Given the description of an element on the screen output the (x, y) to click on. 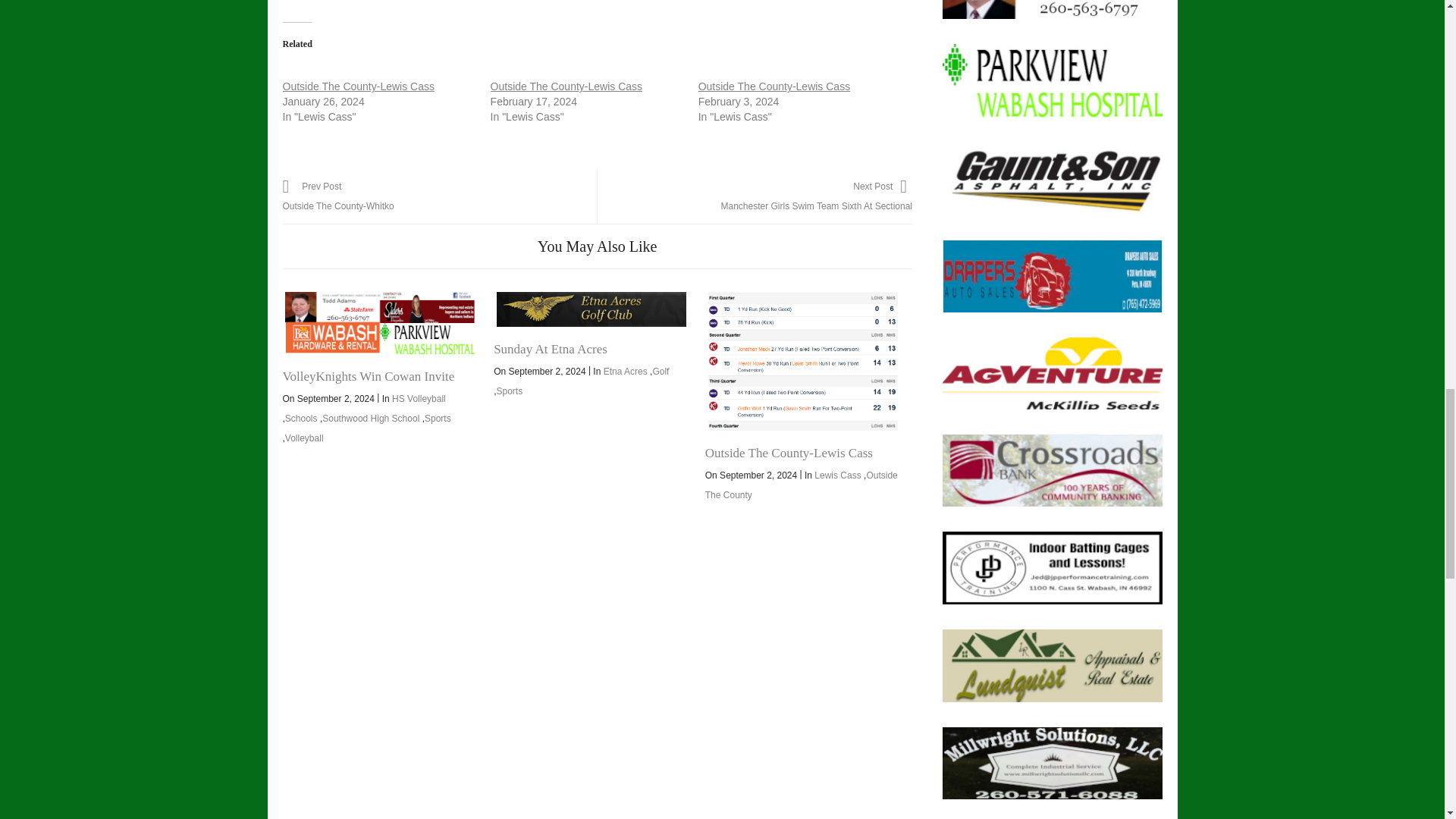
VolleyKnights Win Cowan Invite (379, 322)
Sunday At Etna Acres (590, 308)
Outside The County-Lewis Cass (566, 86)
Outside The County-Lewis Cass (774, 86)
Outside The County-Lewis Cass (802, 360)
Outside The County-Lewis Cass (357, 86)
